Given the description of an element on the screen output the (x, y) to click on. 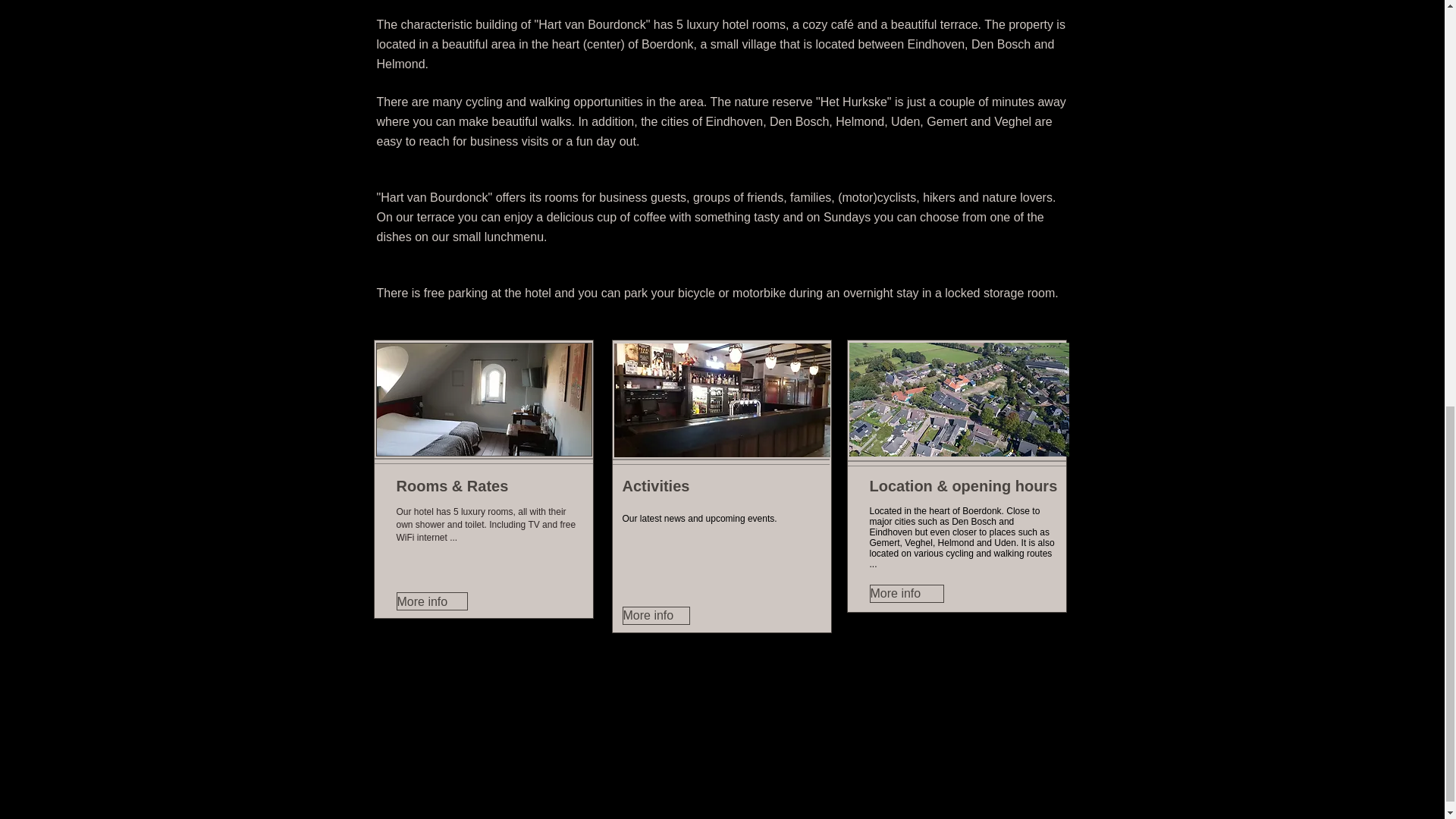
More info (431, 601)
More info (654, 615)
More info (906, 593)
